Given the description of an element on the screen output the (x, y) to click on. 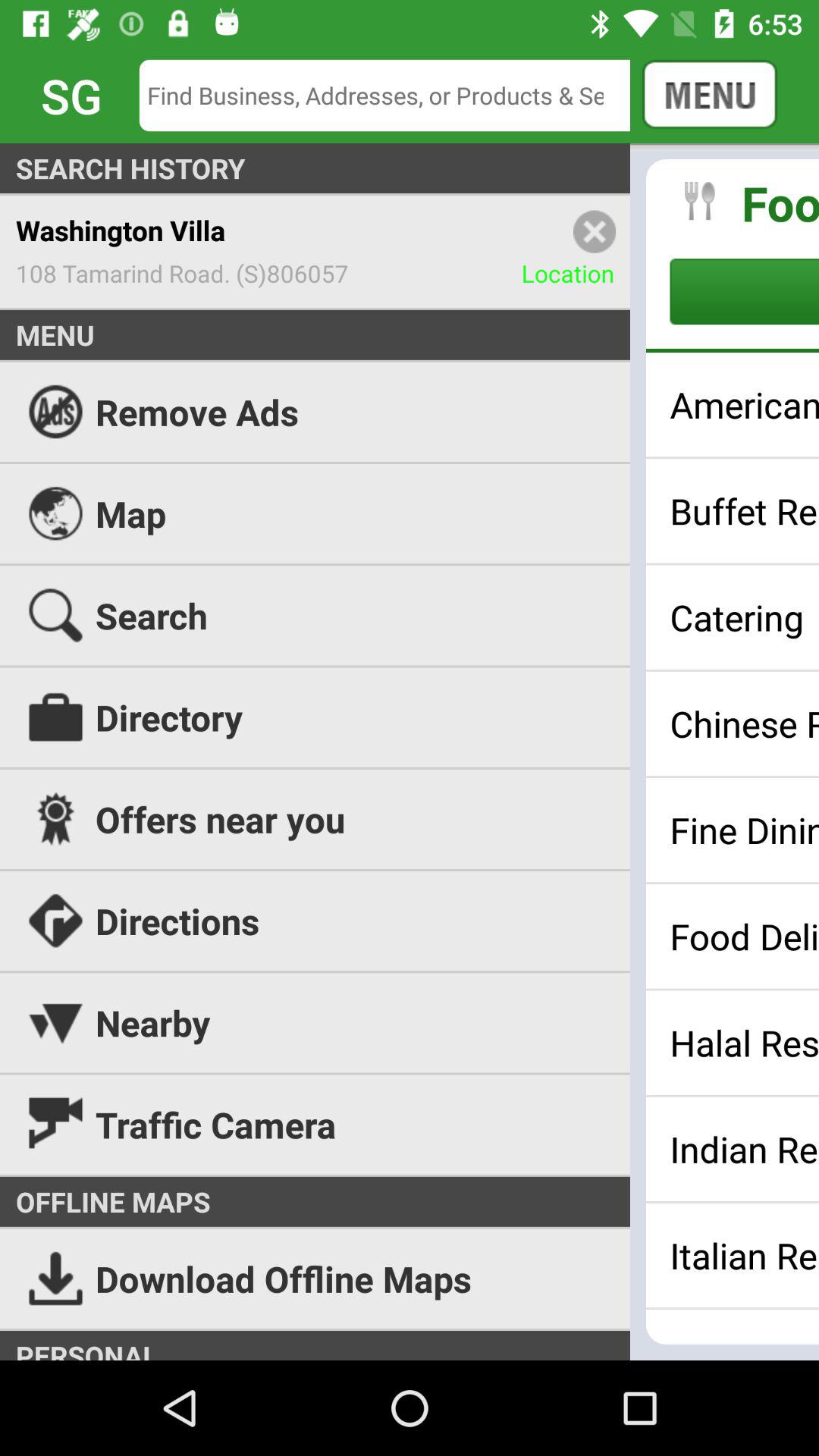
select halal restaurants icon (744, 1042)
